Given the description of an element on the screen output the (x, y) to click on. 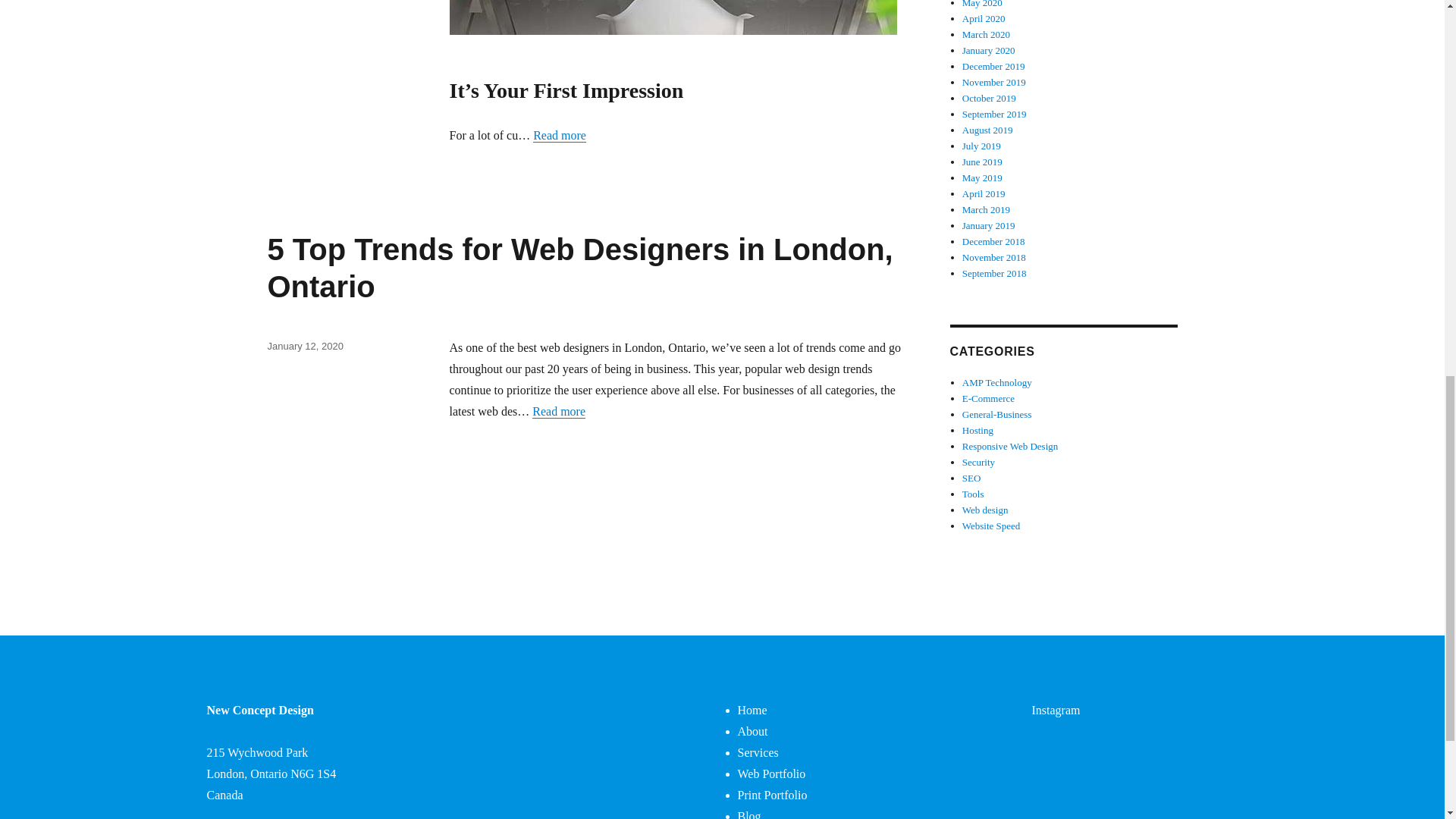
January 12, 2020 (304, 346)
Read more (559, 134)
Read more (558, 410)
5 Top Trends for Web Designers in London, Ontario (579, 267)
